Given the description of an element on the screen output the (x, y) to click on. 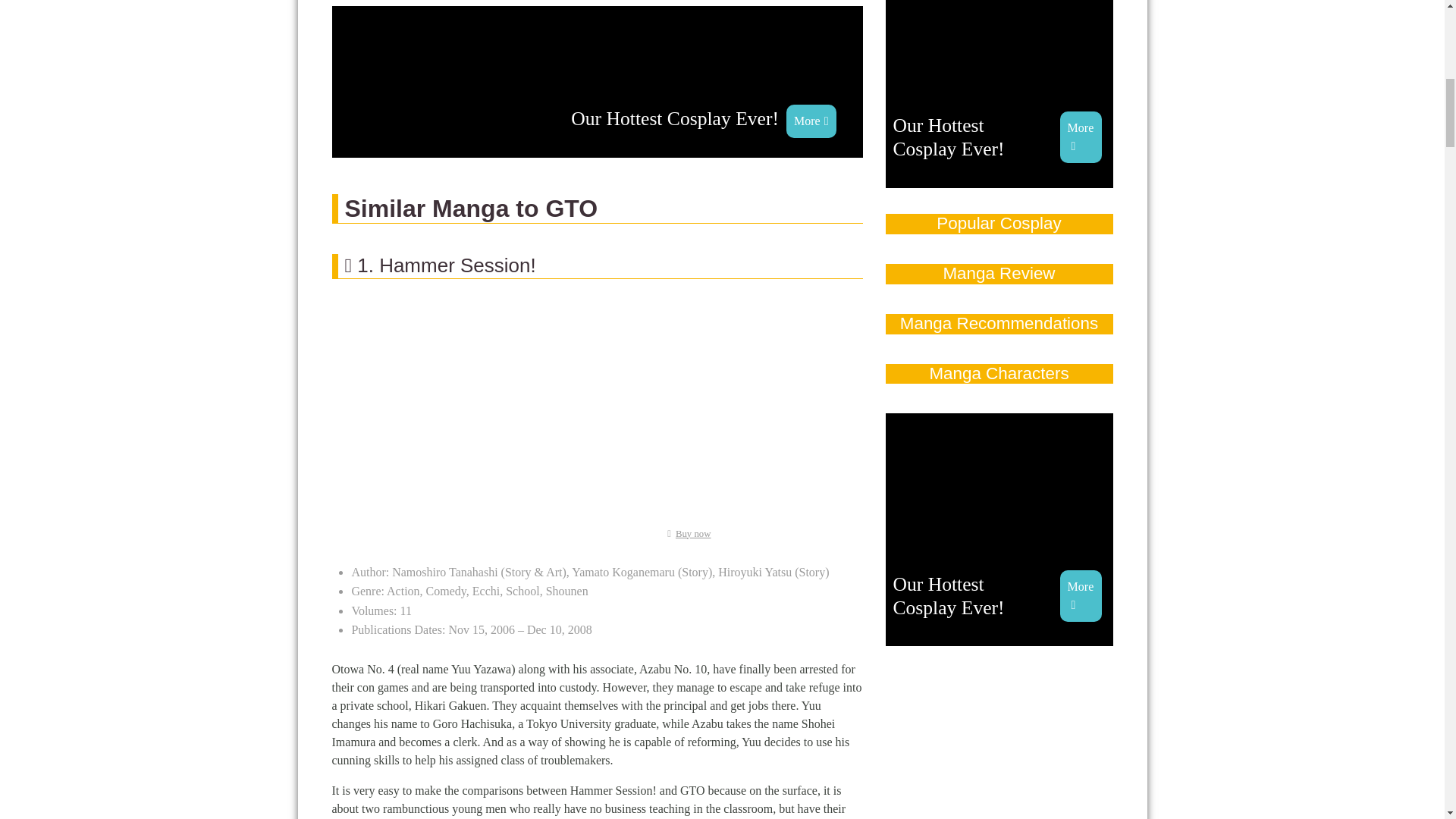
Buy now (597, 81)
